Given the description of an element on the screen output the (x, y) to click on. 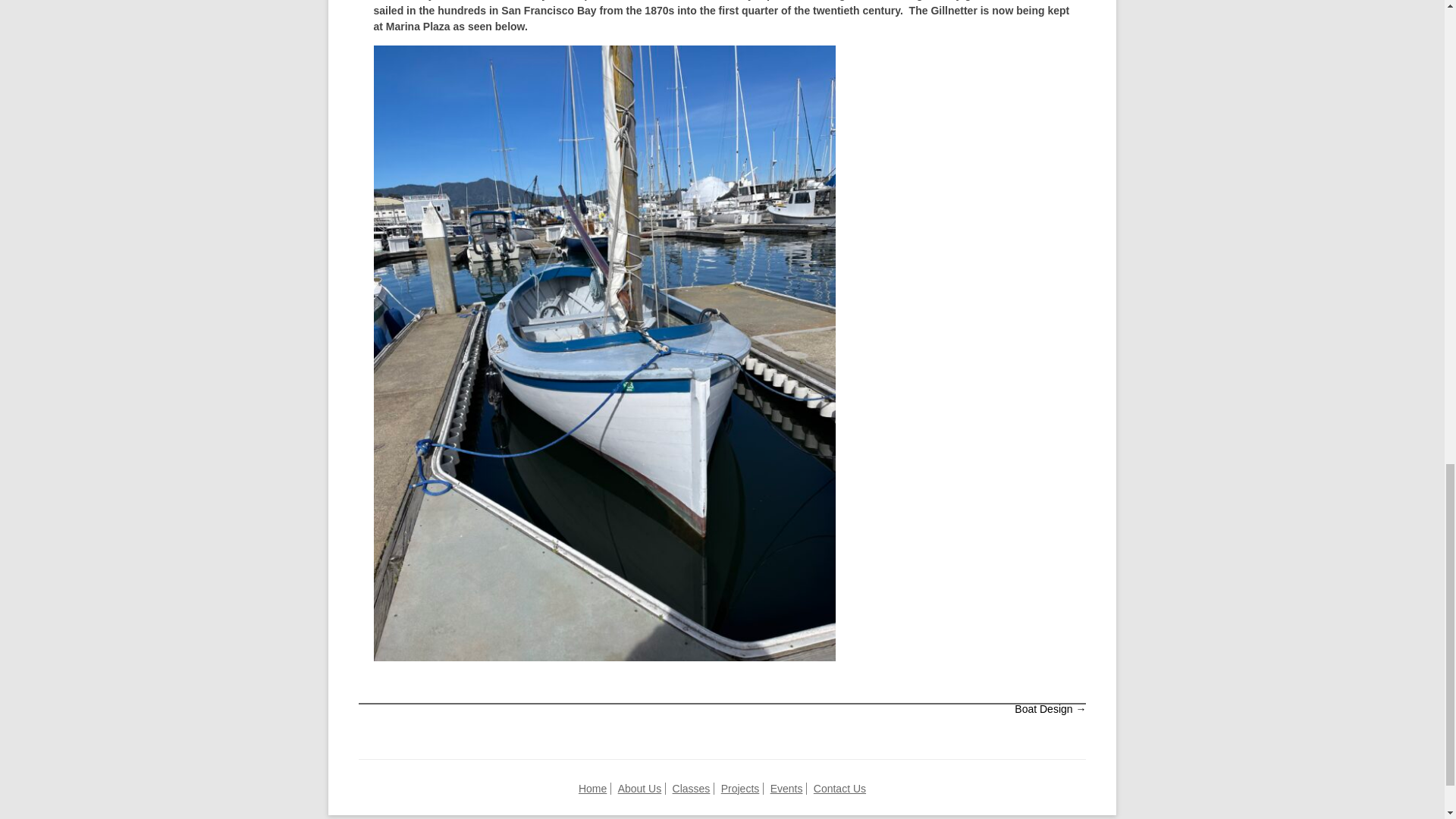
Contact Us (839, 788)
Projects (740, 788)
Home (592, 788)
About Us (639, 788)
Classes (691, 788)
Events (786, 788)
